Given the description of an element on the screen output the (x, y) to click on. 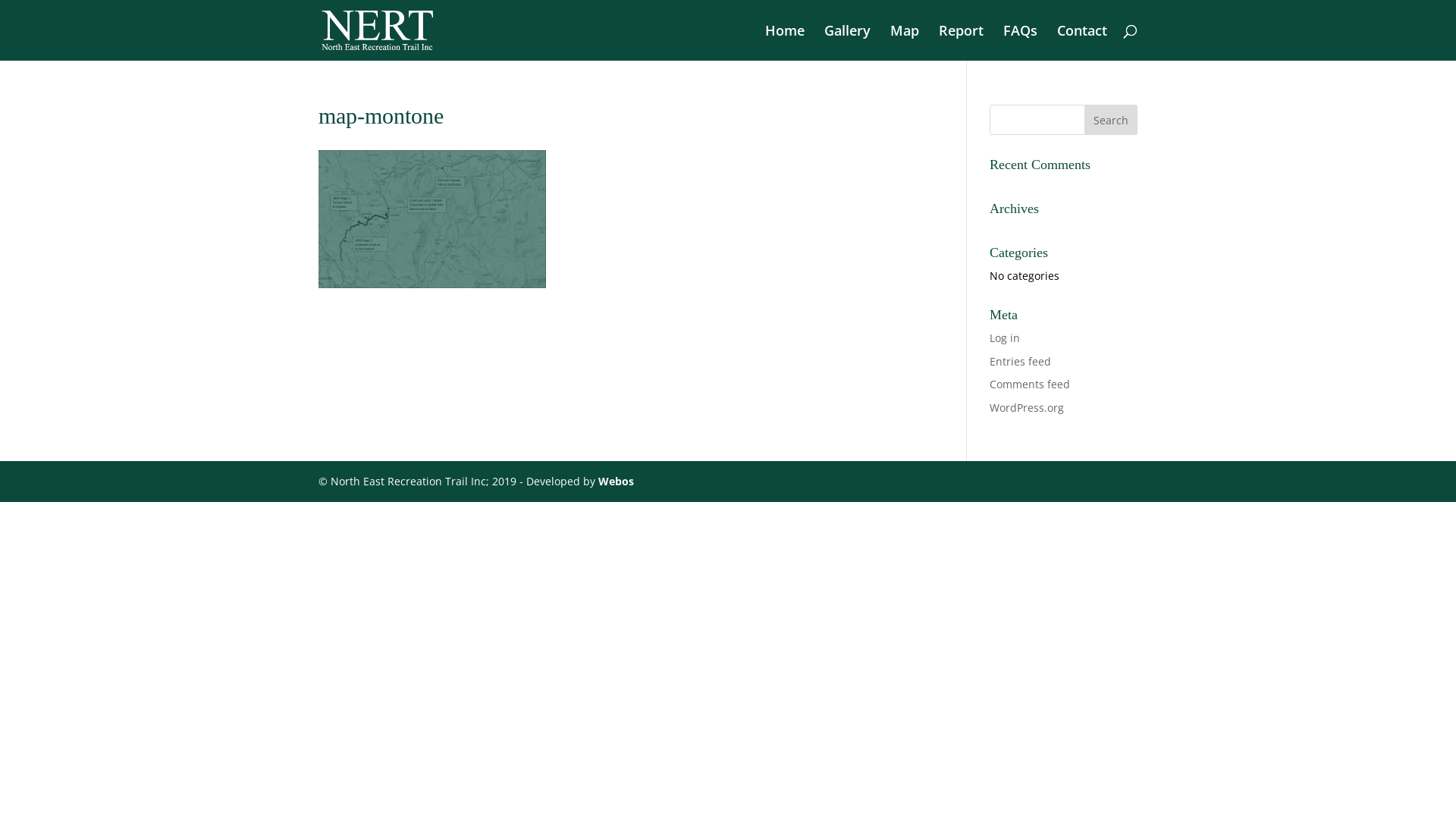
Contact Element type: text (1082, 42)
WordPress.org Element type: text (1026, 407)
Map Element type: text (904, 42)
Report Element type: text (960, 42)
Gallery Element type: text (847, 42)
Webos Element type: text (615, 480)
Log in Element type: text (1004, 337)
Comments feed Element type: text (1029, 383)
Search Element type: text (1110, 119)
FAQs Element type: text (1020, 42)
Home Element type: text (784, 42)
Entries feed Element type: text (1020, 361)
